Given the description of an element on the screen output the (x, y) to click on. 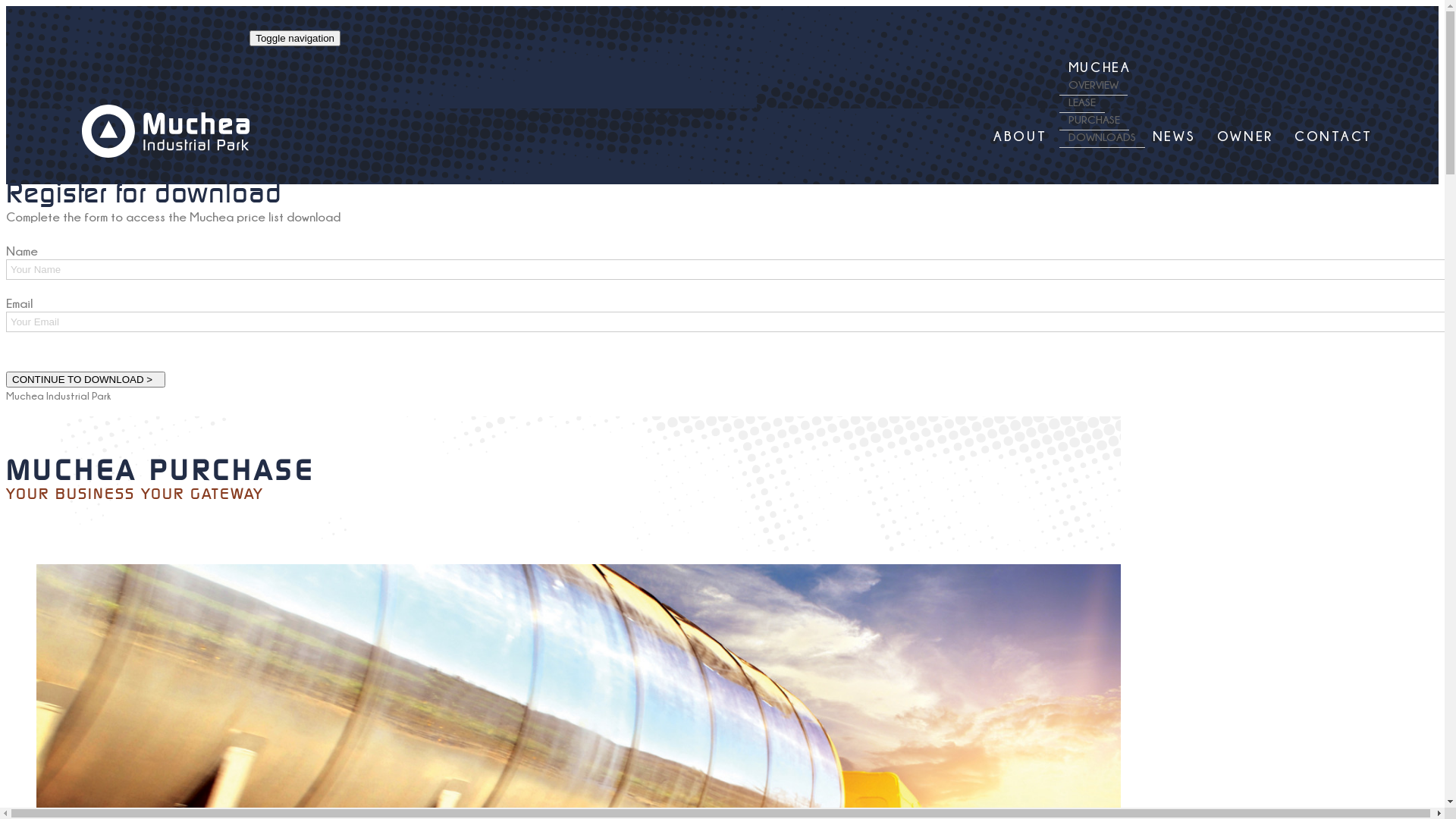
CONTINUE TO DOWNLOAD > Element type: text (85, 379)
OWNER Element type: text (1245, 135)
CONTACT Element type: text (1333, 135)
NEWS Element type: text (1173, 135)
ABOUT Element type: text (1020, 135)
OVERVIEW Element type: text (1093, 84)
MUCHEA Element type: text (1099, 66)
PURCHASE Element type: text (1094, 119)
Return home Element type: hover (165, 153)
DOWNLOADS Element type: text (1102, 136)
Toggle navigation Element type: text (294, 38)
LEASE Element type: text (1081, 101)
